Given the description of an element on the screen output the (x, y) to click on. 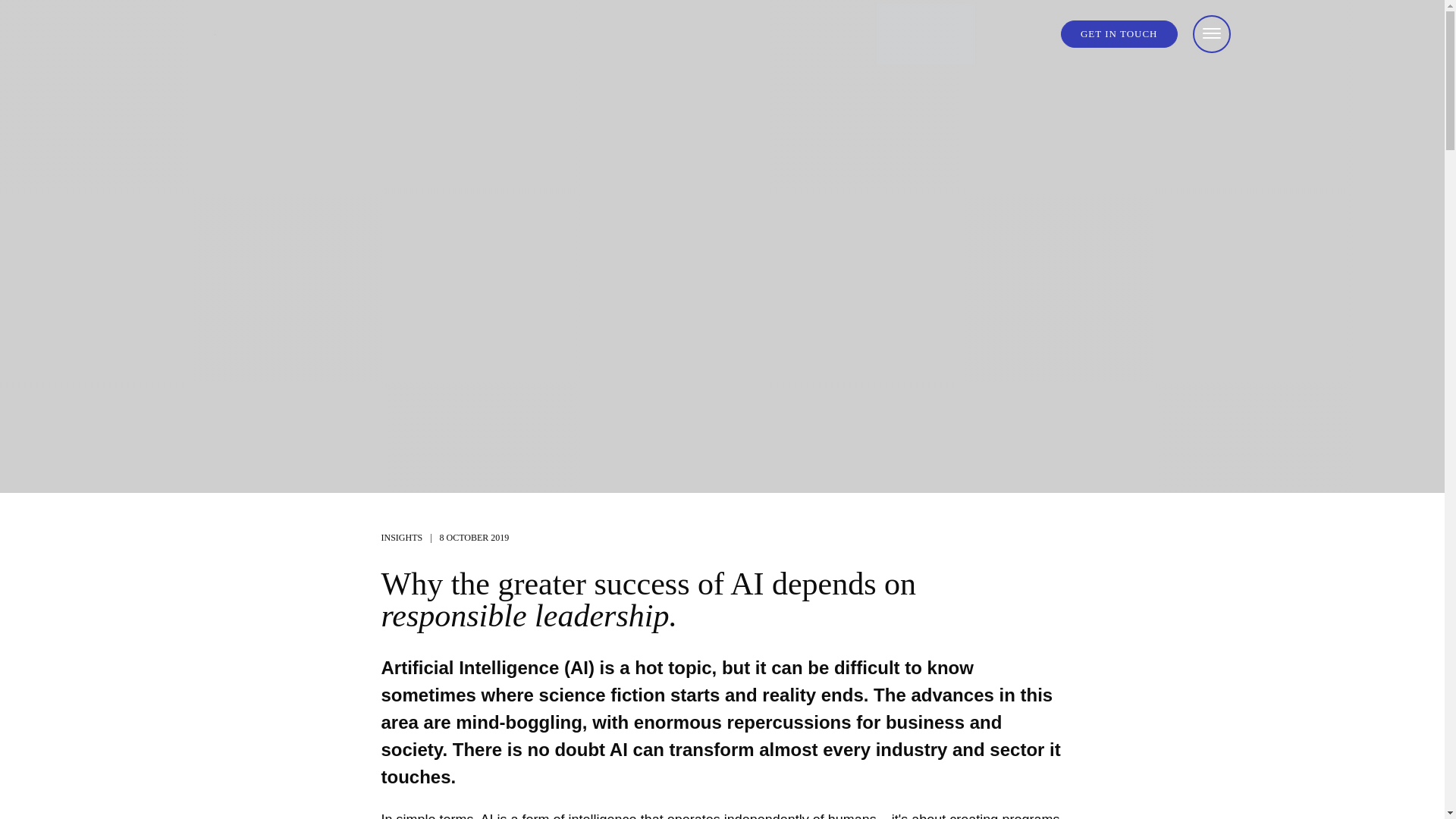
GET IN TOUCH (1119, 34)
